Given the description of an element on the screen output the (x, y) to click on. 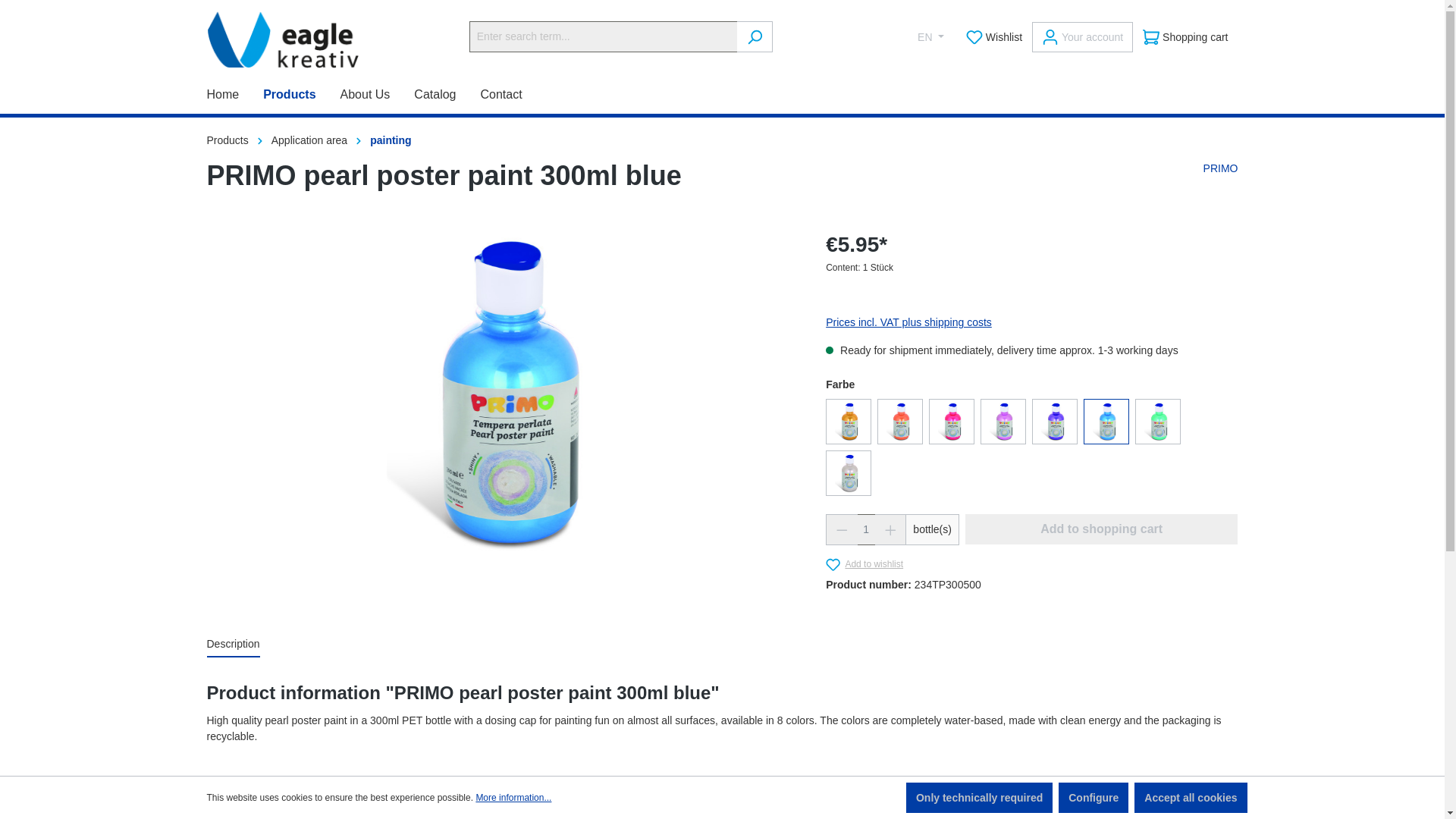
Home (234, 96)
About Us (377, 96)
Products (301, 96)
About Us (377, 96)
Go to homepage (264, 38)
Products (301, 96)
Wishlist (994, 37)
Your account (1082, 37)
Catalog (446, 96)
EN (930, 36)
Your account (1082, 37)
Contact (513, 96)
Shopping cart (1184, 37)
Contact (513, 96)
Home (234, 96)
